Given the description of an element on the screen output the (x, y) to click on. 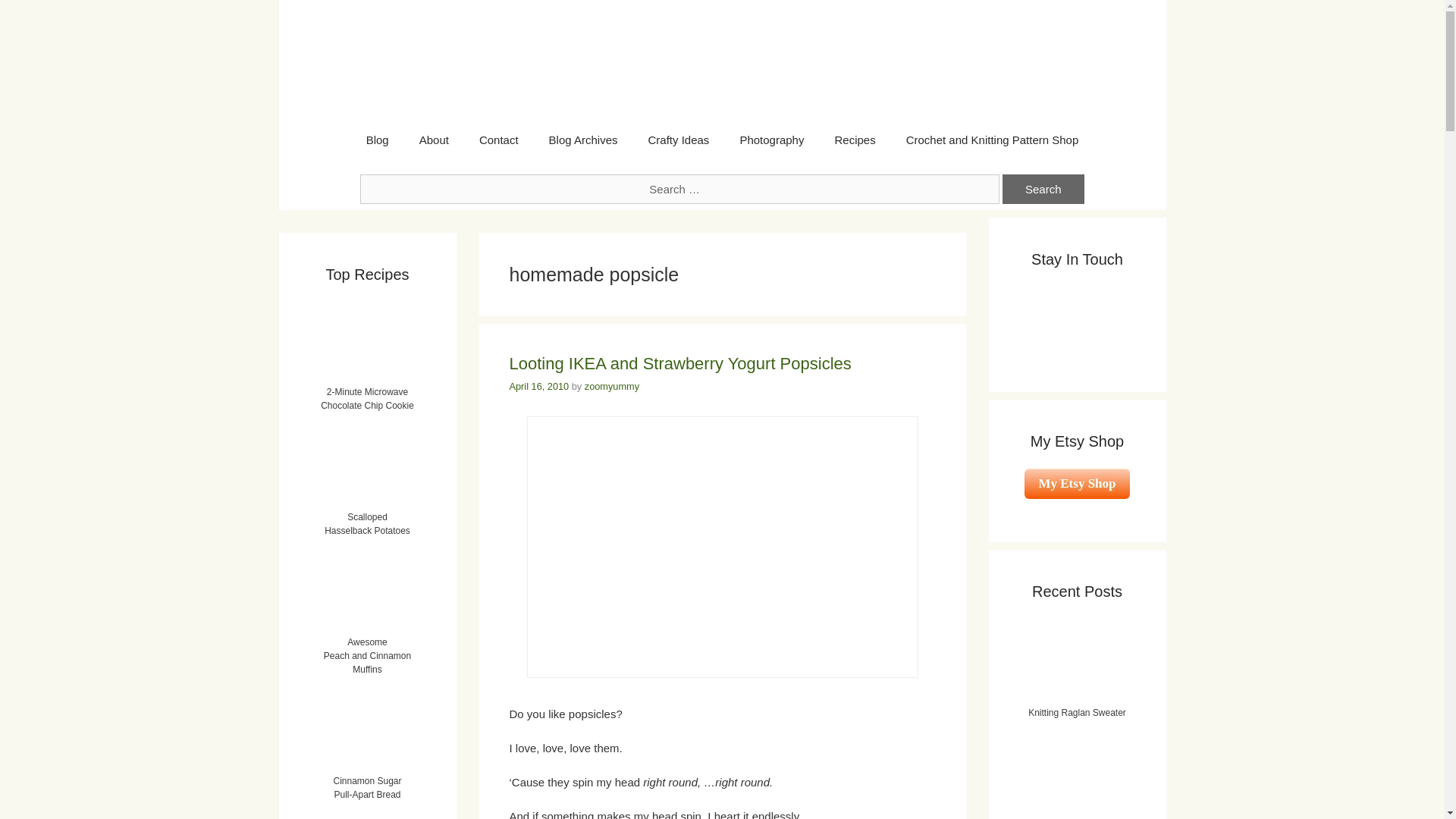
View all posts by zoomyummy (612, 386)
April 16, 2010 (539, 386)
Search (1043, 188)
Search (1043, 188)
11:25 am (539, 386)
homemade-popsicle (721, 547)
Crochet and Knitting Pattern Shop (992, 140)
Blog (377, 140)
Photography (770, 140)
About (434, 140)
Looting IKEA and Strawberry Yogurt Popsicles (680, 363)
Crafty Ideas (677, 140)
Search (1043, 188)
Recipes (853, 140)
zoomyummy (612, 386)
